Given the description of an element on the screen output the (x, y) to click on. 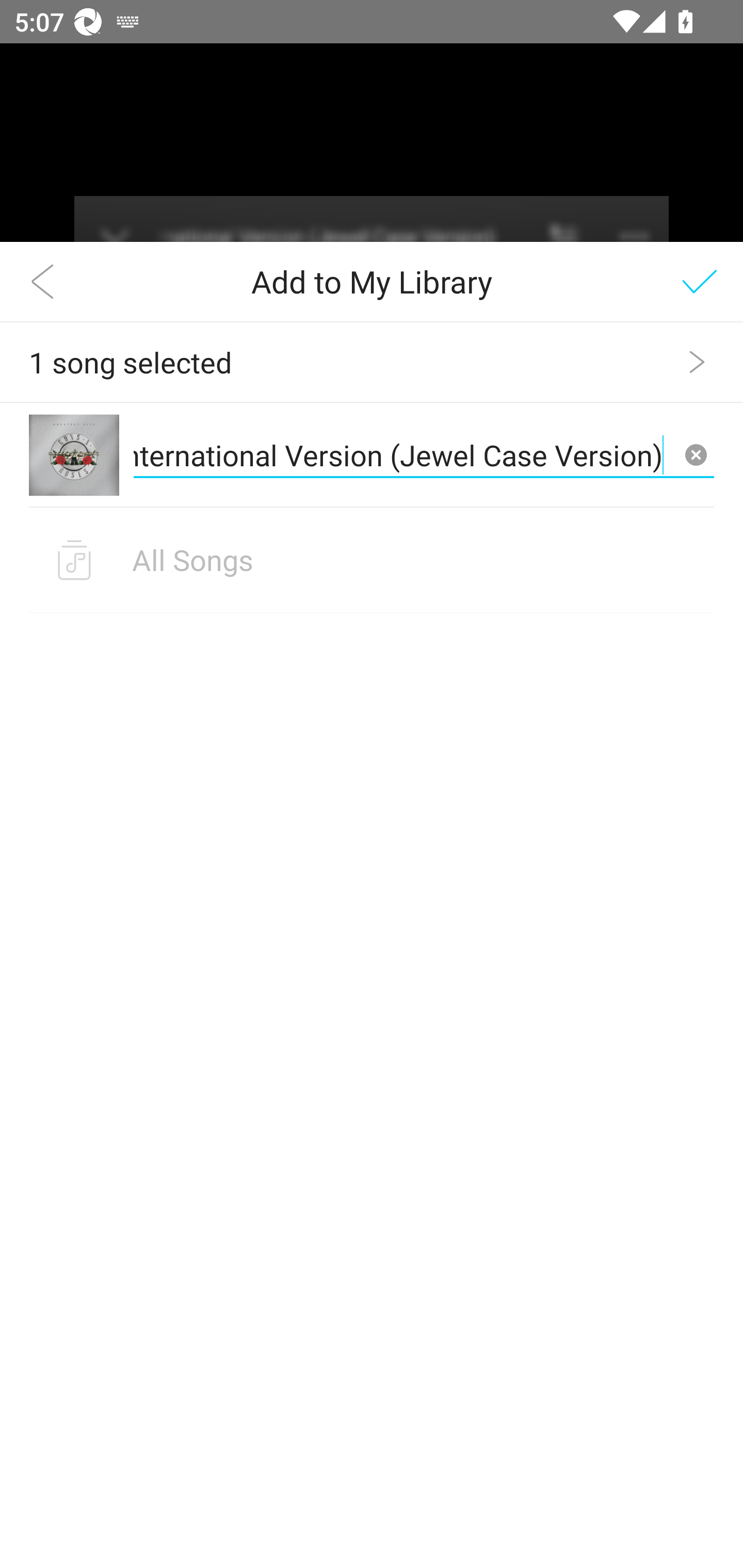
1 song selected label_track_count (371, 362)
All Songs (371, 560)
